Given the description of an element on the screen output the (x, y) to click on. 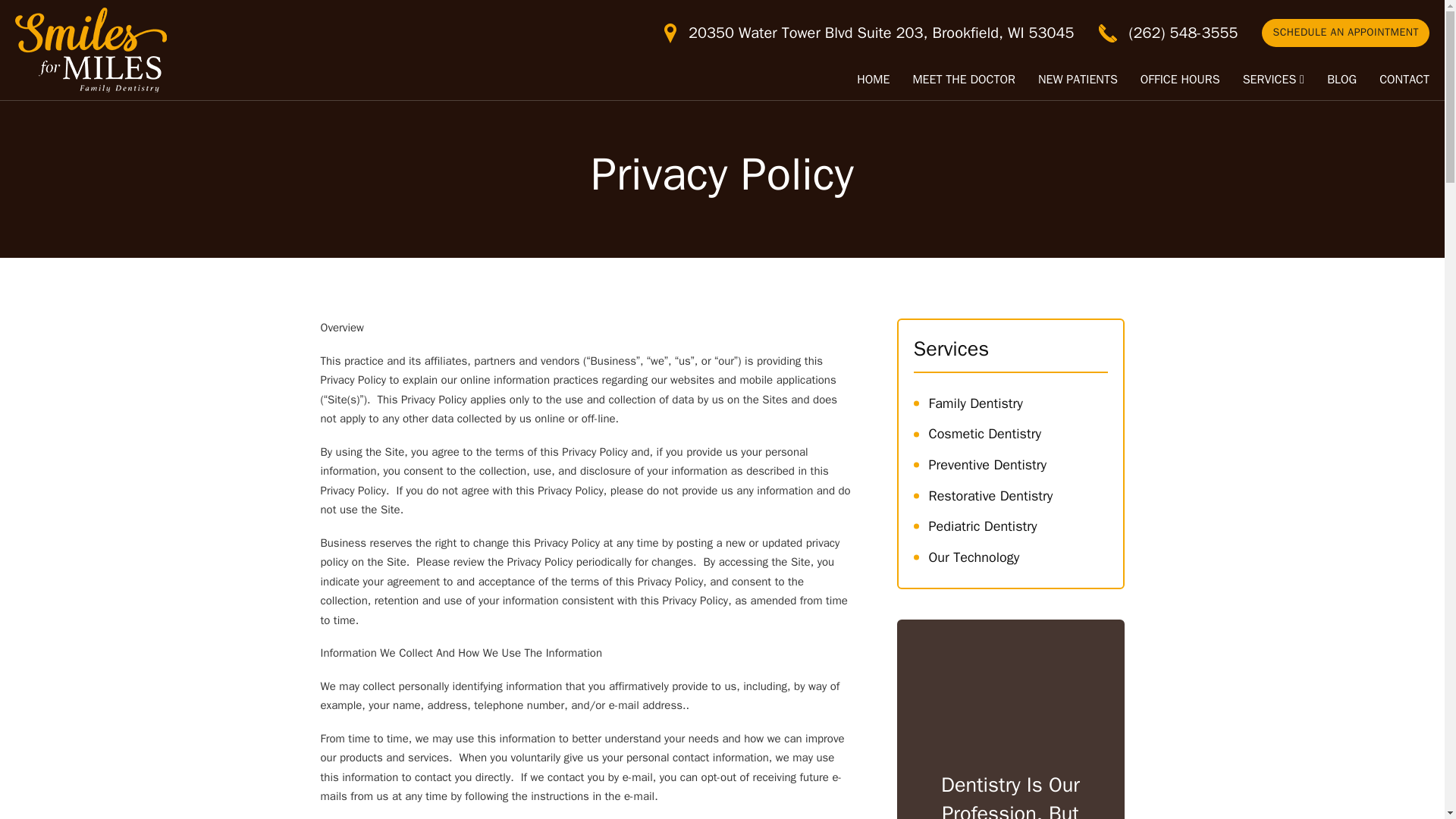
NEW PATIENTS (1078, 80)
CONTACT (1403, 80)
Preventive Dentistry (1009, 464)
20350 Water Tower Blvd Suite 203, Brookfield, WI 53045 (868, 32)
SCHEDULE AN APPOINTMENT (1345, 31)
MEET THE DOCTOR (963, 80)
Family Dentistry (1009, 403)
SERVICES (1270, 79)
OFFICE HOURS (1180, 80)
Cosmetic Dentistry (1009, 433)
